Given the description of an element on the screen output the (x, y) to click on. 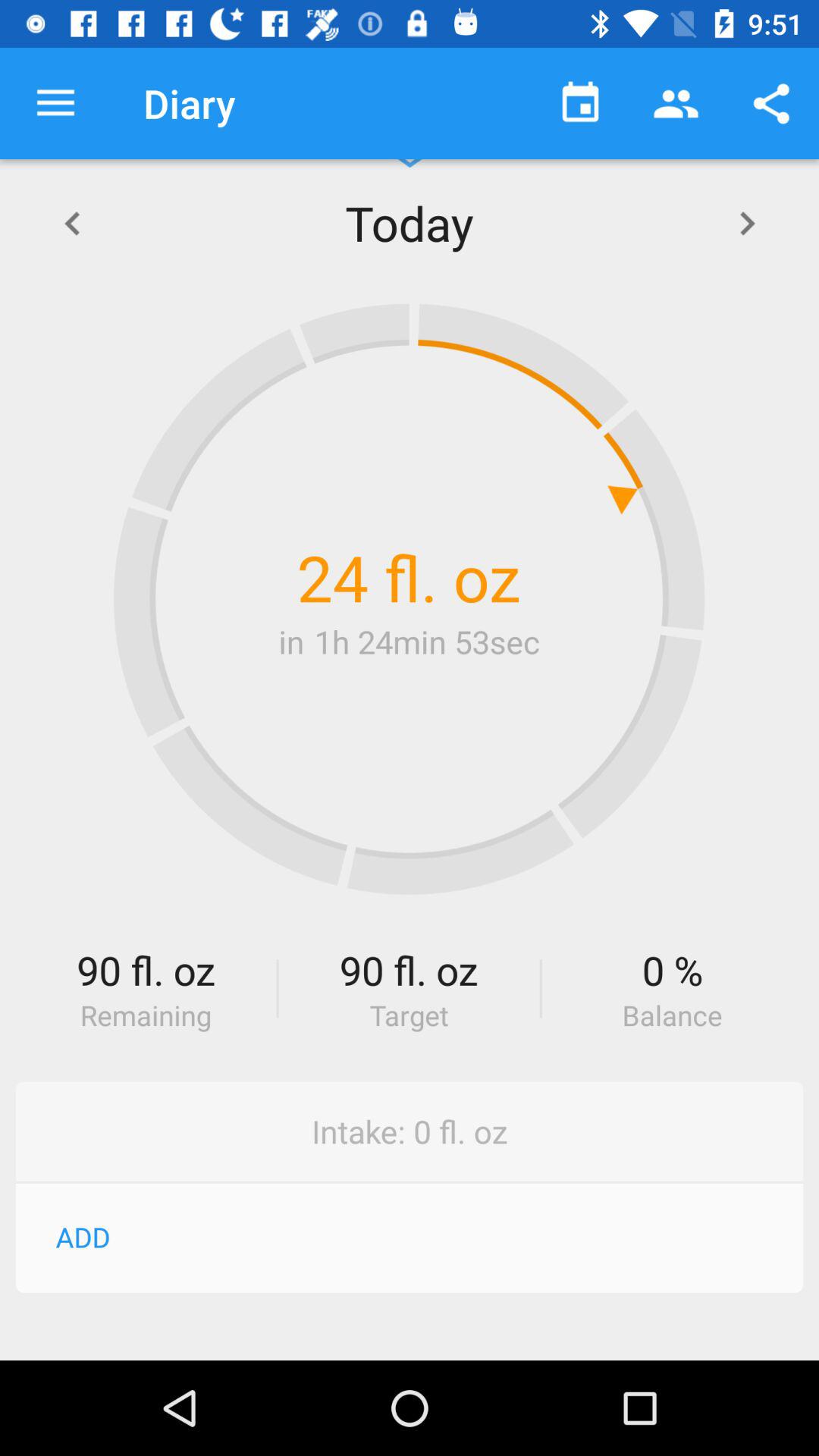
jump to the intake 0 fl (409, 1131)
